Given the description of an element on the screen output the (x, y) to click on. 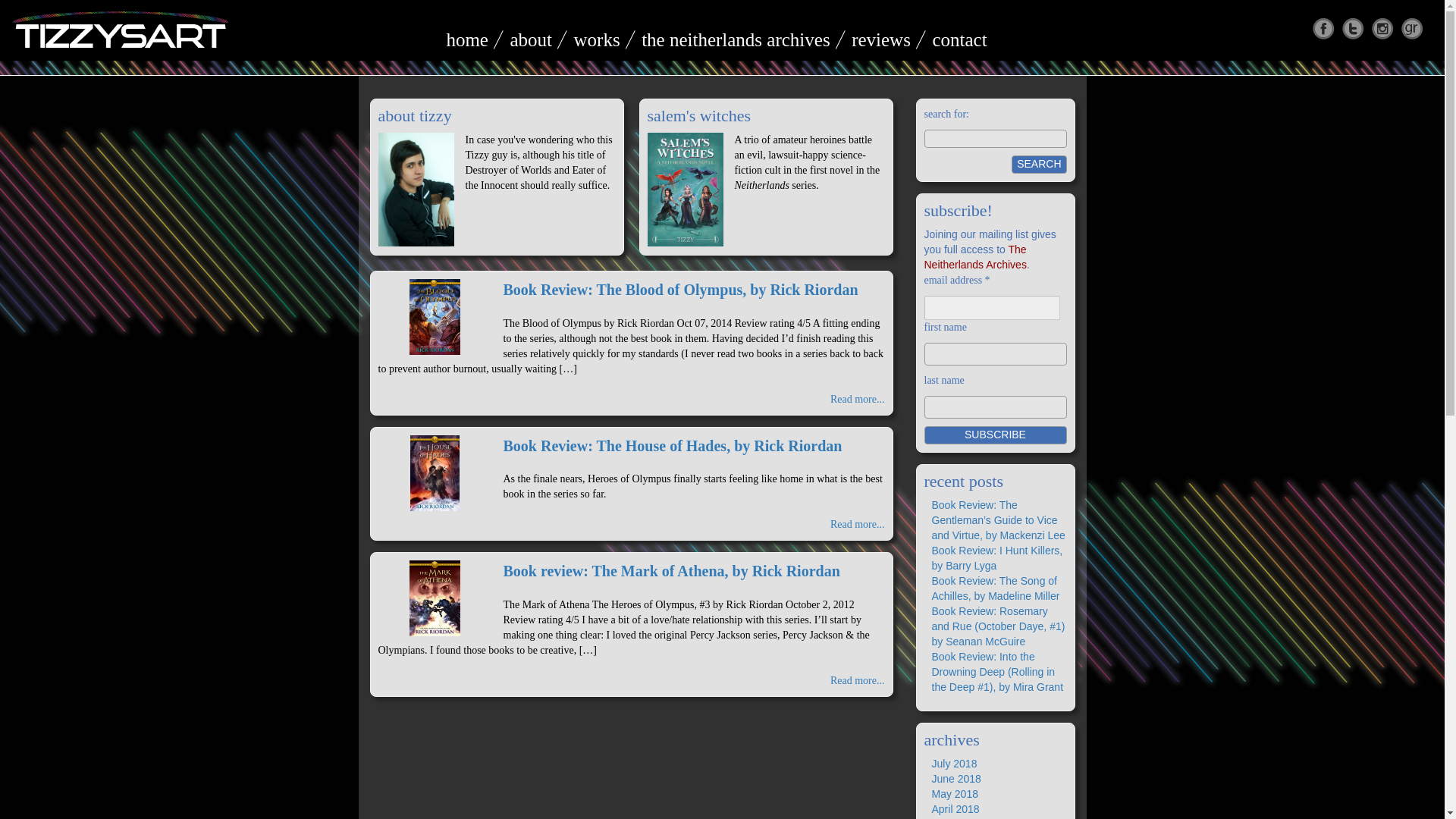
May 2018 (953, 793)
Book Review: The House of Hades, by Rick Riordan (673, 445)
Book Review: The Blood of Olympus, by Rick Riordan (681, 289)
the neitherlands archives (735, 39)
about (530, 39)
Book Review: The Song of Achilles, by Madeline Miller (995, 587)
works (596, 39)
April 2018 (954, 808)
Search (1038, 164)
March 2018 (959, 818)
reviews (881, 39)
Read more... (857, 680)
home (466, 39)
Read more... (857, 398)
Subscribe (994, 434)
